Given the description of an element on the screen output the (x, y) to click on. 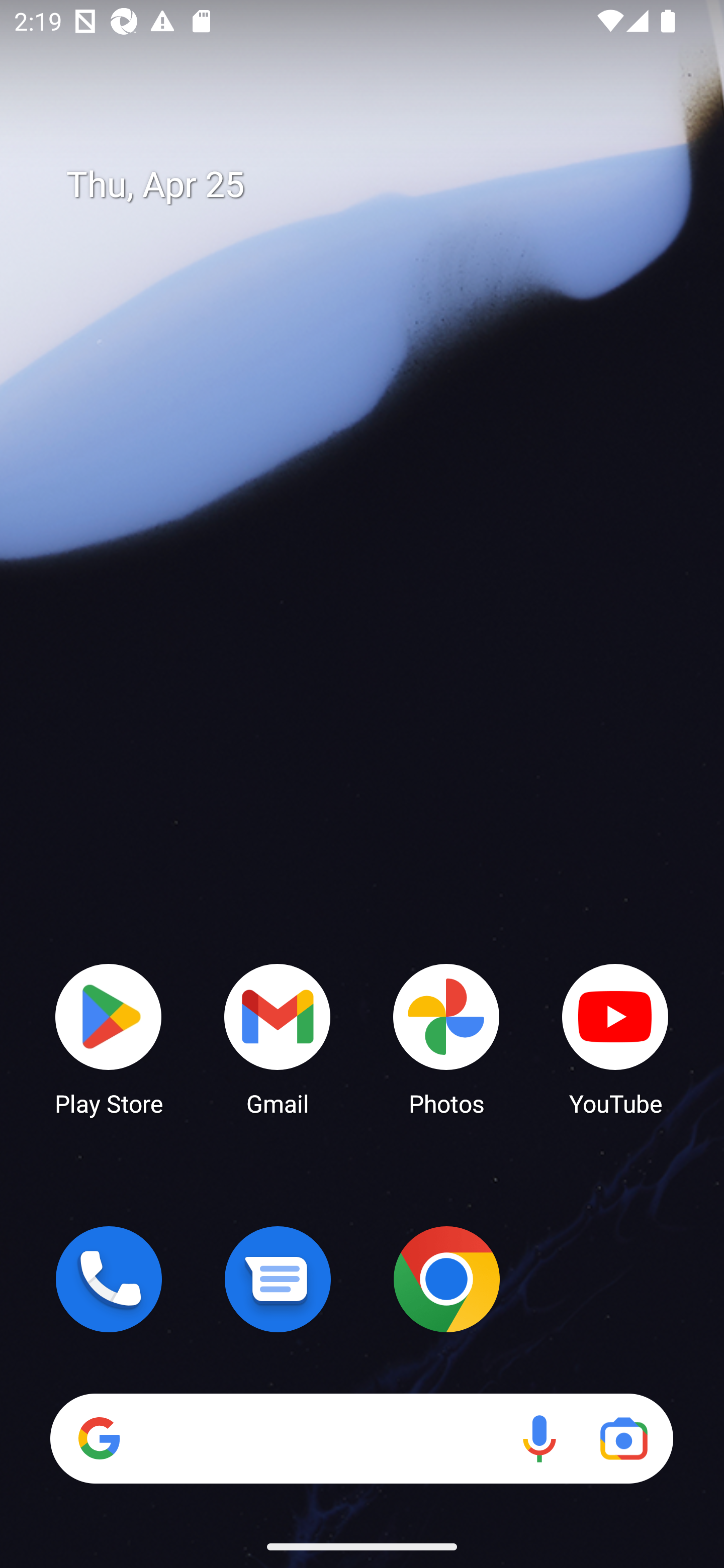
Thu, Apr 25 (375, 184)
Play Store (108, 1038)
Gmail (277, 1038)
Photos (445, 1038)
YouTube (615, 1038)
Phone (108, 1279)
Messages (277, 1279)
Chrome (446, 1279)
Search Voice search Google Lens (361, 1438)
Voice search (539, 1438)
Google Lens (623, 1438)
